Given the description of an element on the screen output the (x, y) to click on. 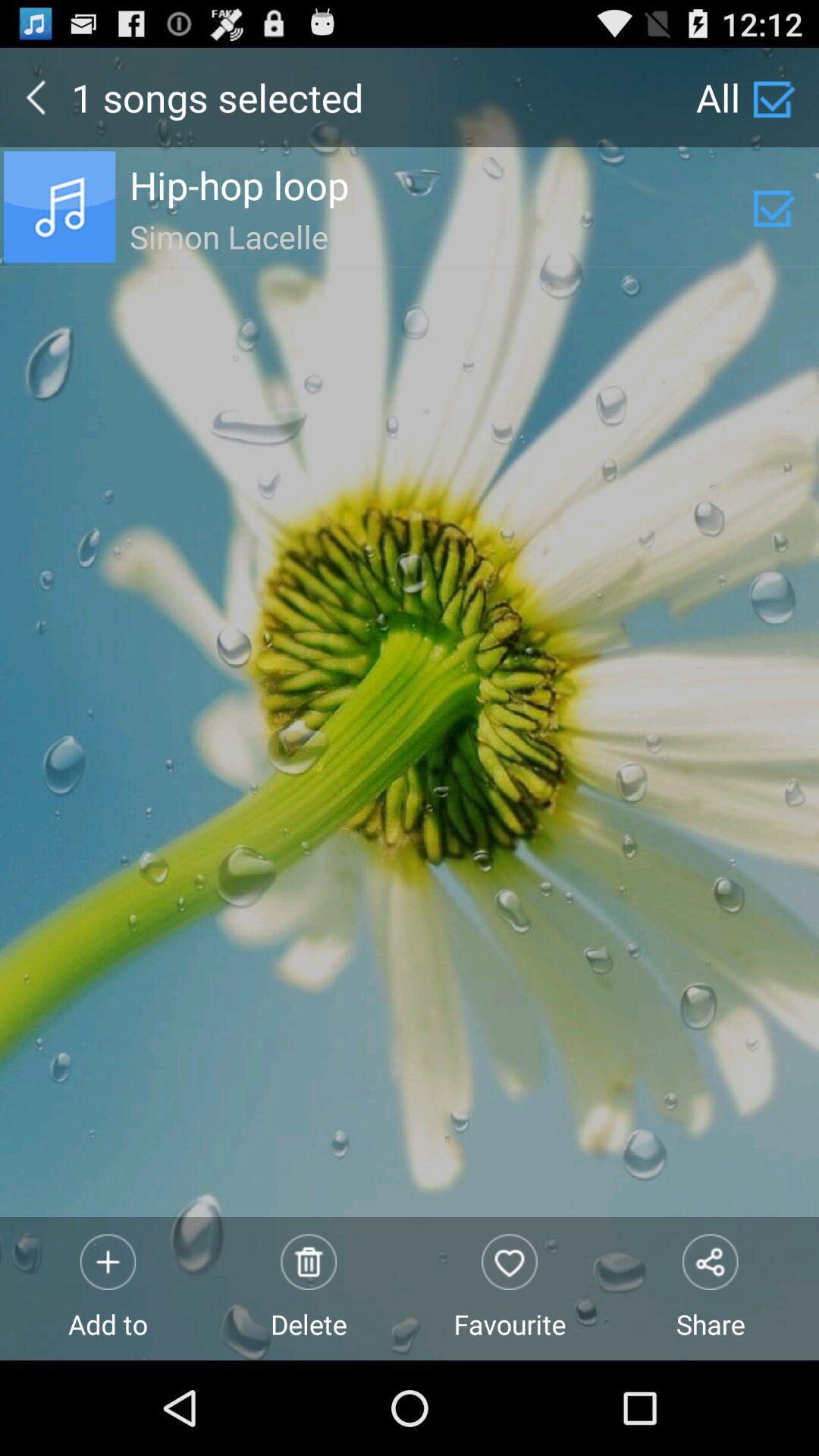
click app to the left of share app (509, 1288)
